Given the description of an element on the screen output the (x, y) to click on. 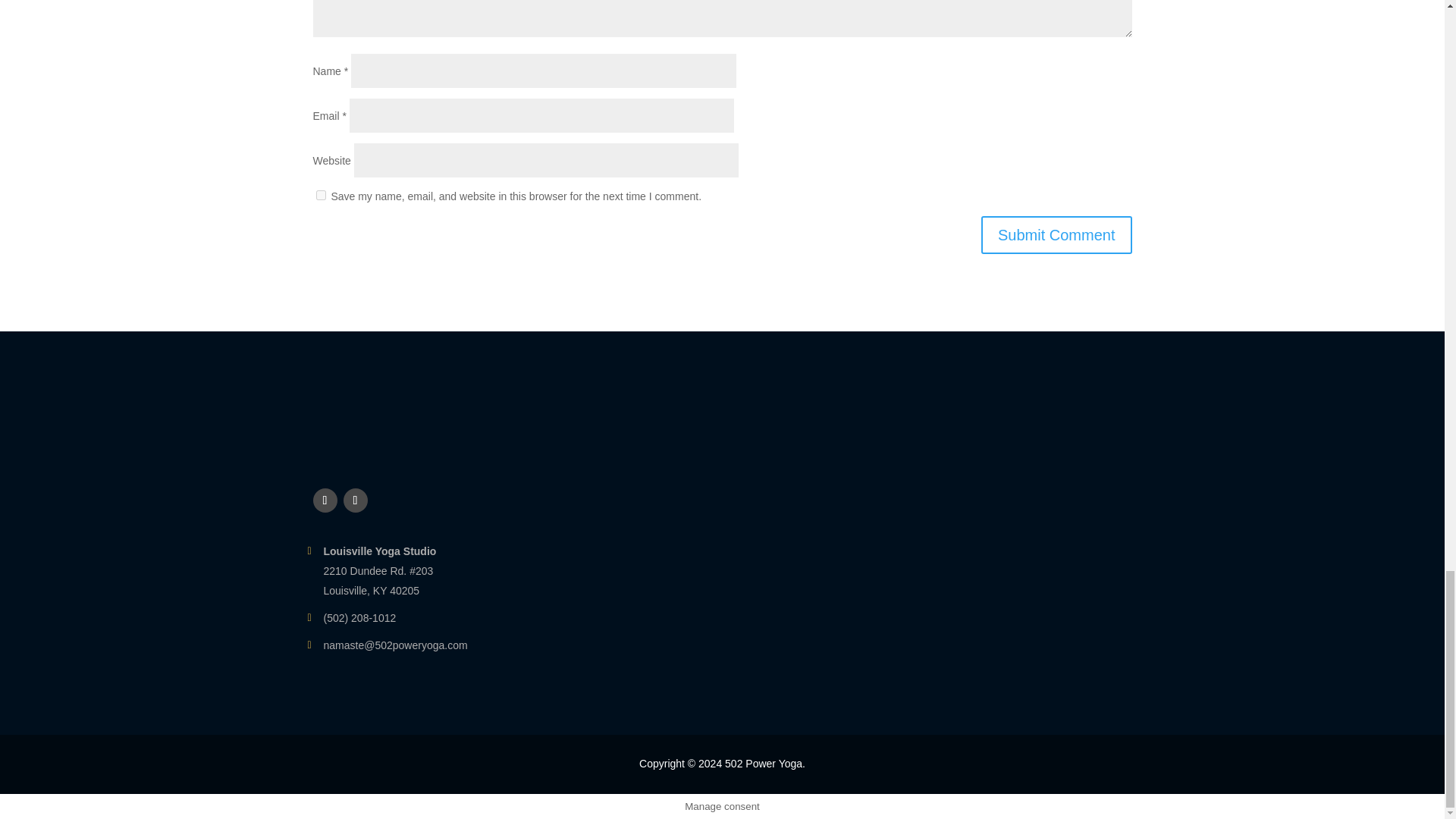
Follow on Instagram (354, 500)
Louisville Yoga Studio (379, 551)
Submit Comment (1056, 234)
Highlands (379, 551)
yes (319, 194)
Highlands (377, 571)
Follow on Facebook (324, 500)
Louisville, KY 40205 (371, 590)
Highlands (371, 590)
Submit Comment (1056, 234)
